Given the description of an element on the screen output the (x, y) to click on. 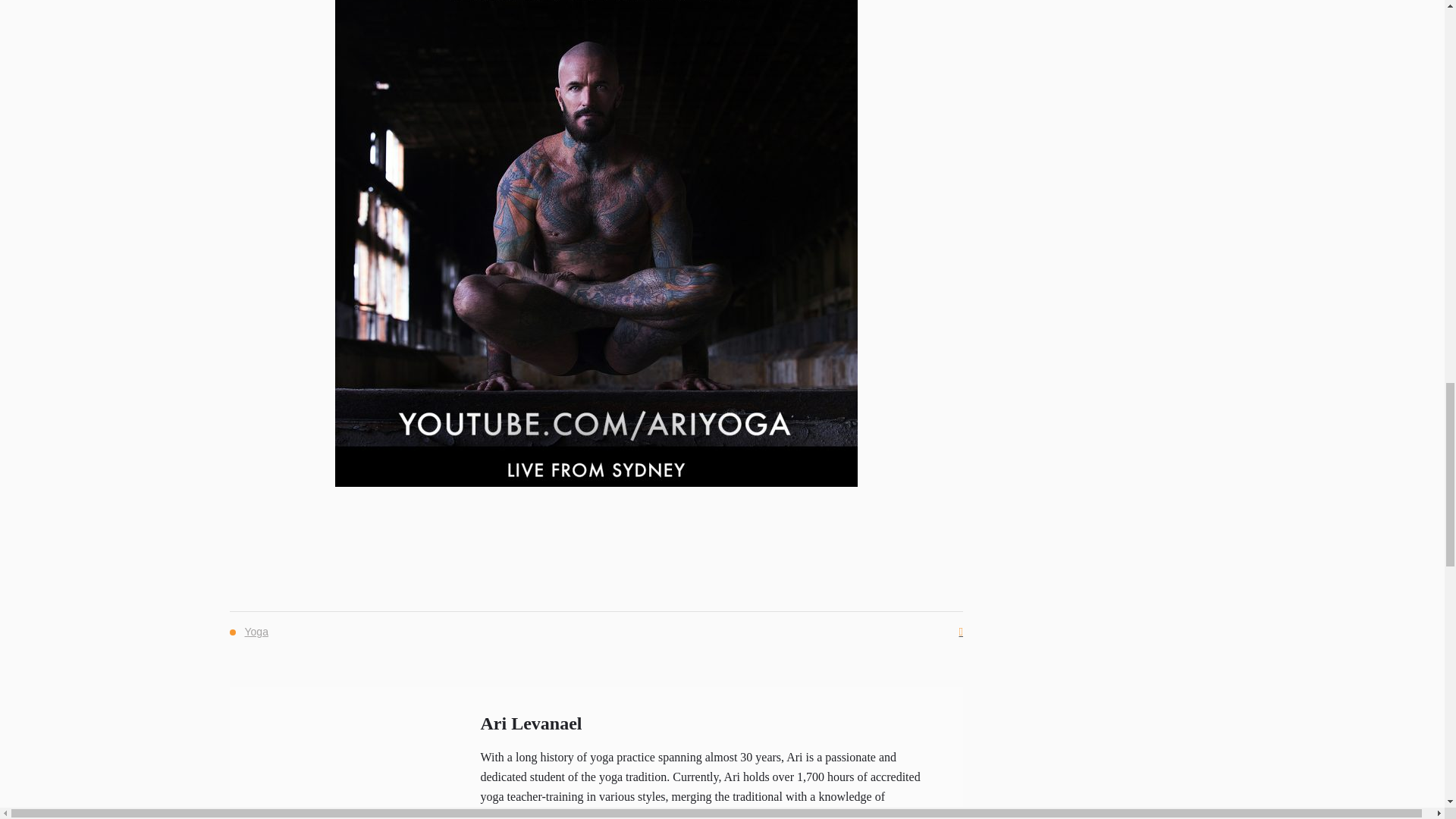
Yoga (254, 631)
